Given the description of an element on the screen output the (x, y) to click on. 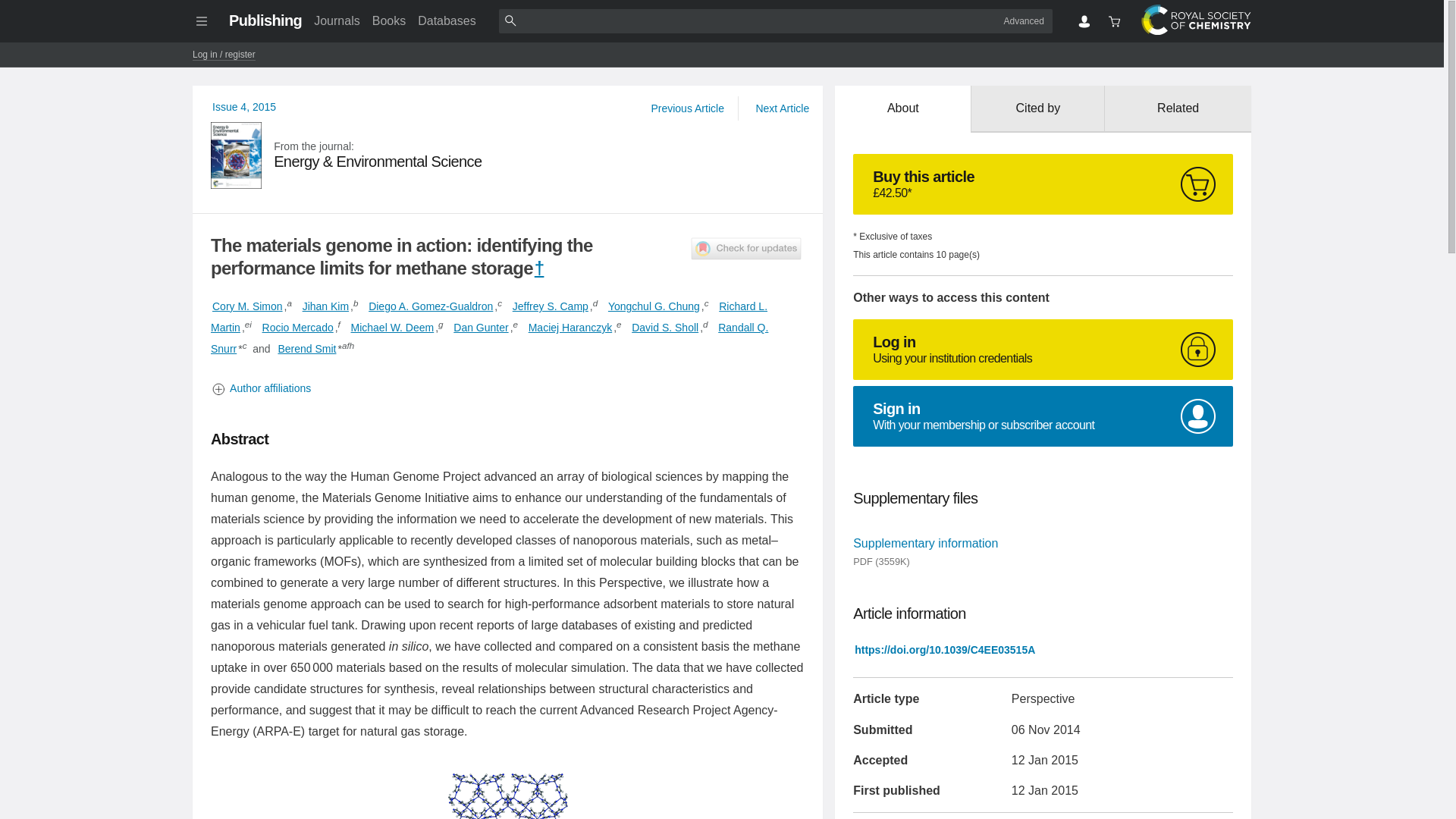
Publishing (264, 20)
Randall Q. Snurr (489, 338)
About (902, 108)
Journals (336, 20)
Issue 4, 2015 (244, 106)
Diego A. Gomez-Gualdron (430, 305)
Yongchul G. Chung (654, 305)
Issue 4, 2015 (244, 106)
Publishing home page (264, 20)
Books (389, 20)
Advanced (1023, 20)
Previous Article (687, 107)
Dan Gunter (480, 327)
David S. Sholl (665, 327)
Rocio Mercado (297, 327)
